Given the description of an element on the screen output the (x, y) to click on. 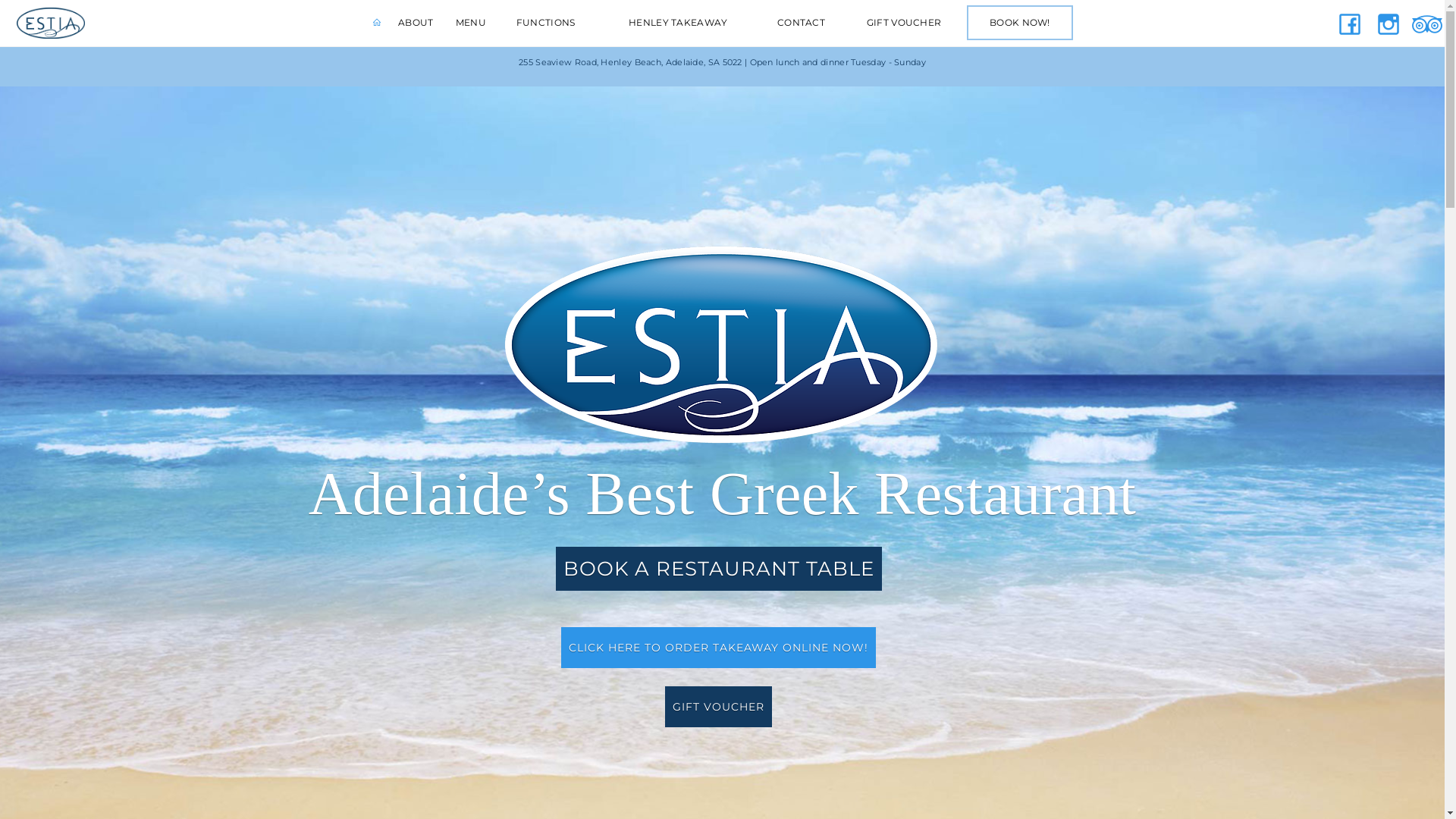
HENLEY TAKEAWAY Element type: text (678, 22)
ABOUT Element type: text (415, 22)
GIFT VOUCHER Element type: text (903, 22)
BOOK NOW! Element type: text (1019, 22)
BOOK A RESTAURANT TABLE Element type: text (718, 567)
FUNCTIONS Element type: text (545, 22)
CLICK HERE TO ORDER TAKEAWAY ONLINE NOW! Element type: text (718, 646)
CONTACT Element type: text (801, 22)
GIFT VOUCHER Element type: text (718, 705)
MENU Element type: text (470, 22)
